Given the description of an element on the screen output the (x, y) to click on. 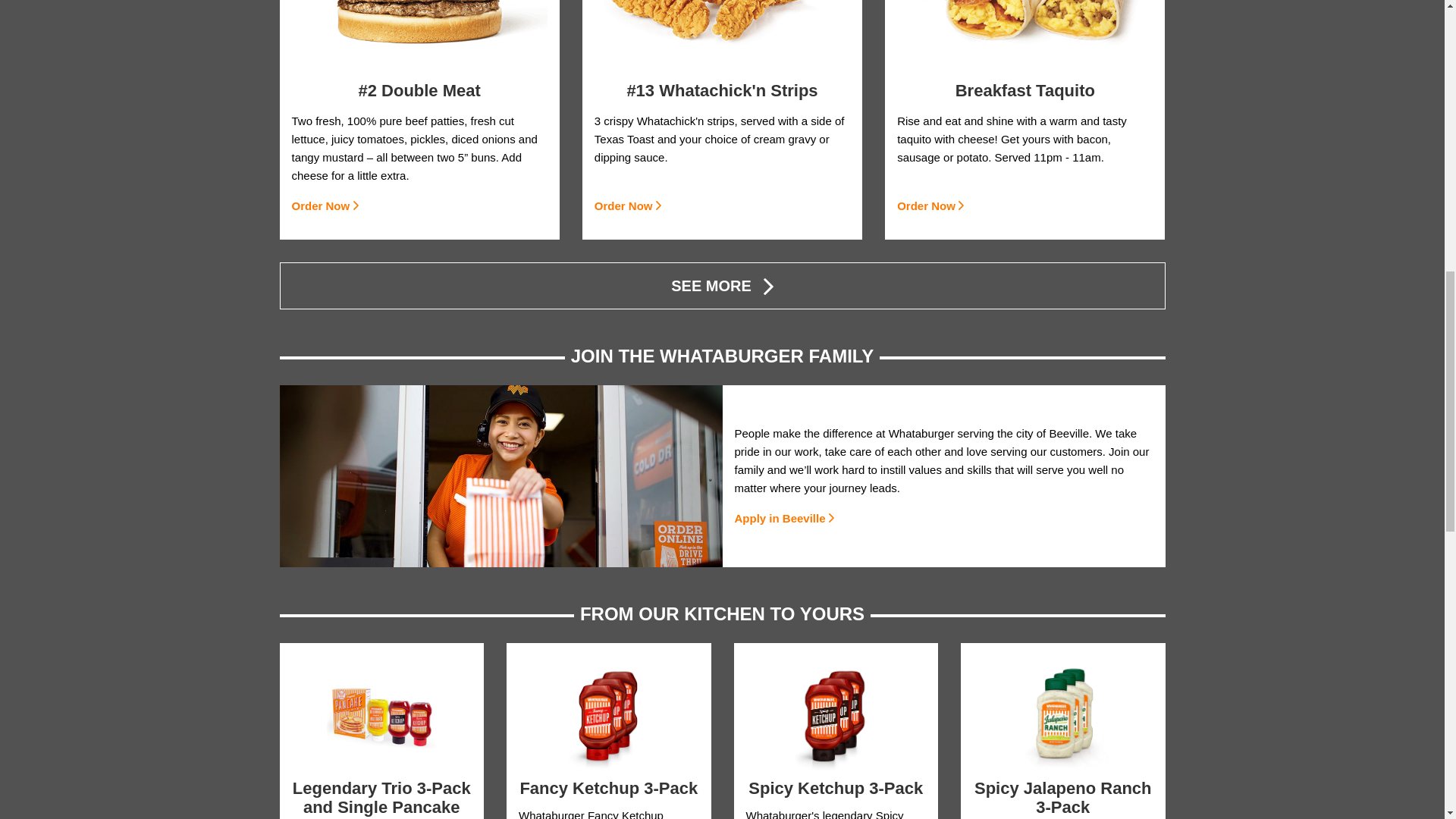
Apply in Beeville (785, 517)
SEE MORE (721, 285)
Order Now (629, 206)
Order Now (326, 206)
Order Now (932, 206)
